Given the description of an element on the screen output the (x, y) to click on. 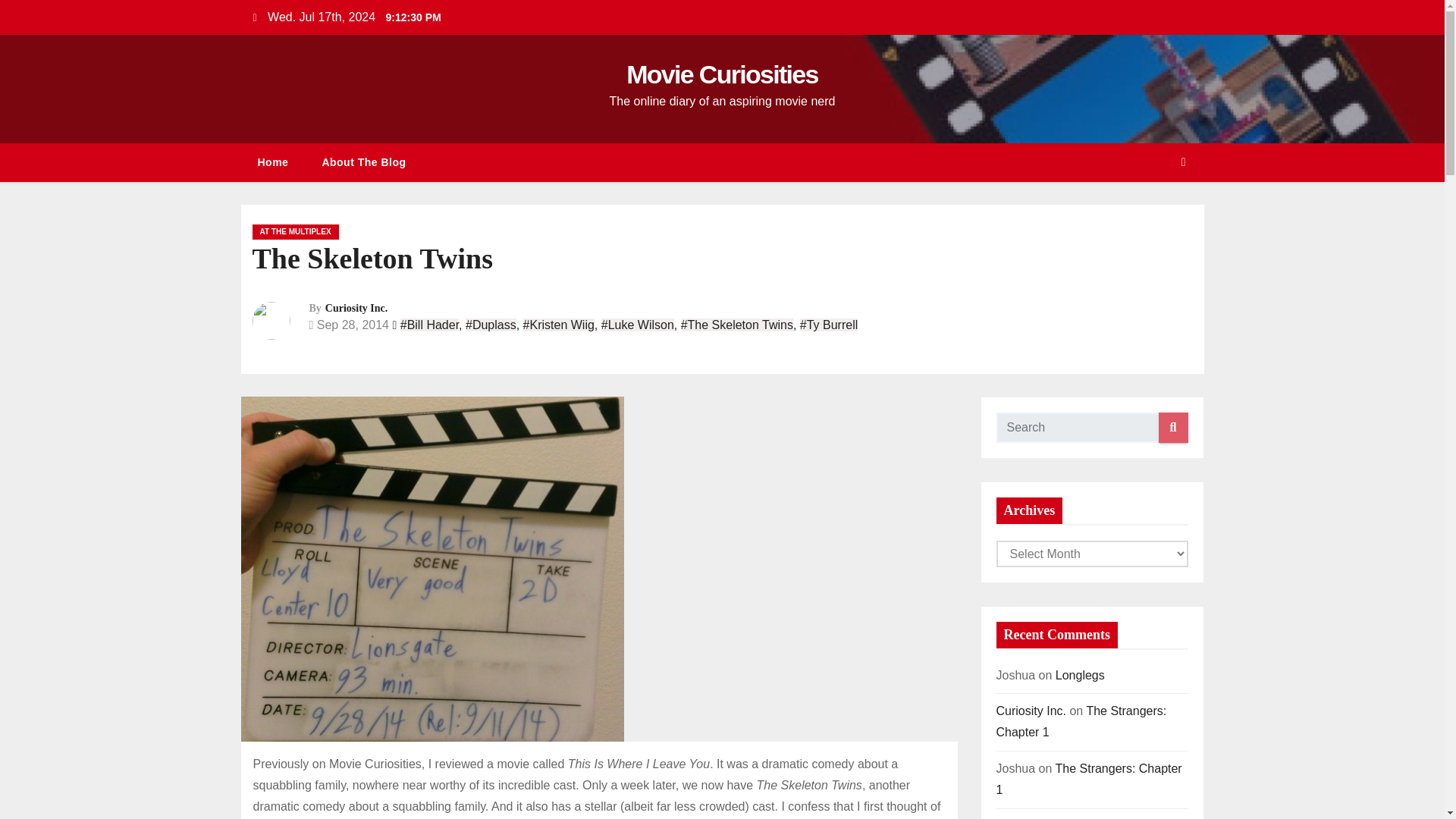
AT THE MULTIPLEX (294, 231)
Home (273, 162)
About The Blog (363, 162)
Movie Curiosities (722, 73)
Curiosity Inc. (355, 307)
Home (273, 162)
